Given the description of an element on the screen output the (x, y) to click on. 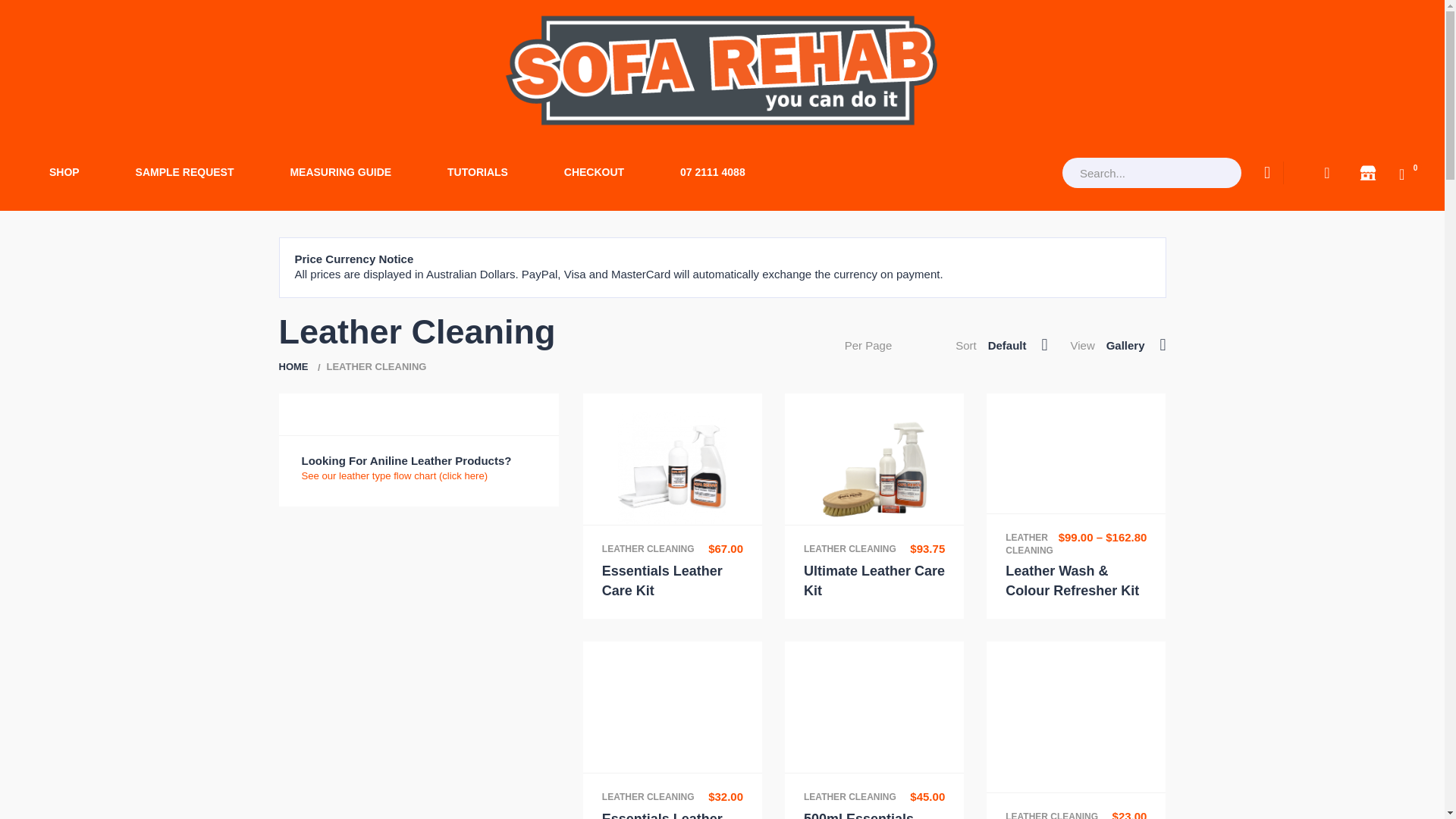
MEASURING GUIDE (340, 173)
Essentials Leather Wash (662, 815)
Ultimate Leather Care Kit (873, 580)
LEATHER CLEANING (648, 549)
500ml Essentials Leather Moisturiser (866, 815)
HOME (293, 367)
SHOP (64, 173)
LEATHER CLEANING (849, 549)
My Account (1327, 172)
LEATHER CLEANING (648, 797)
